Given the description of an element on the screen output the (x, y) to click on. 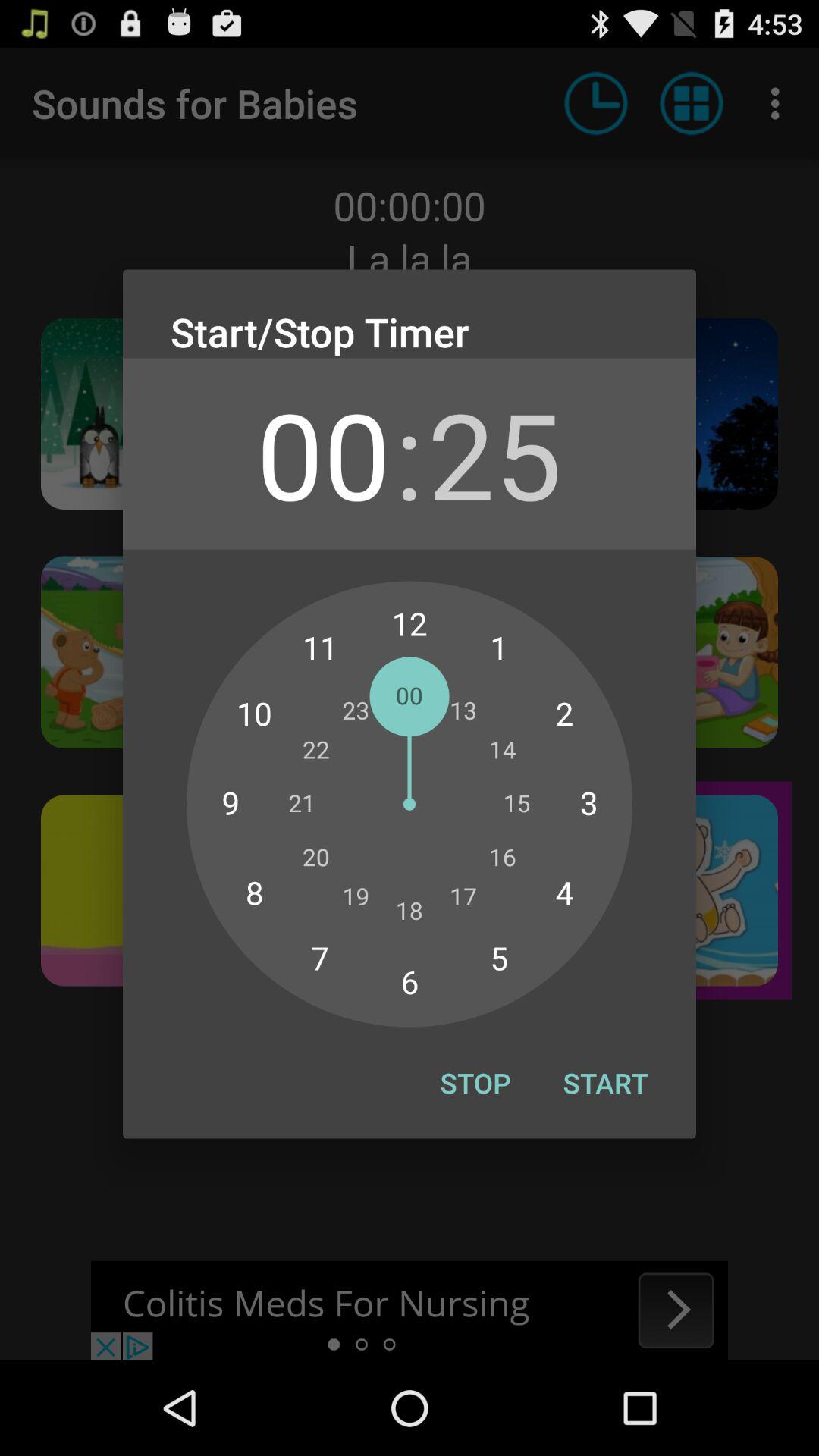
swipe to 25 (494, 453)
